Given the description of an element on the screen output the (x, y) to click on. 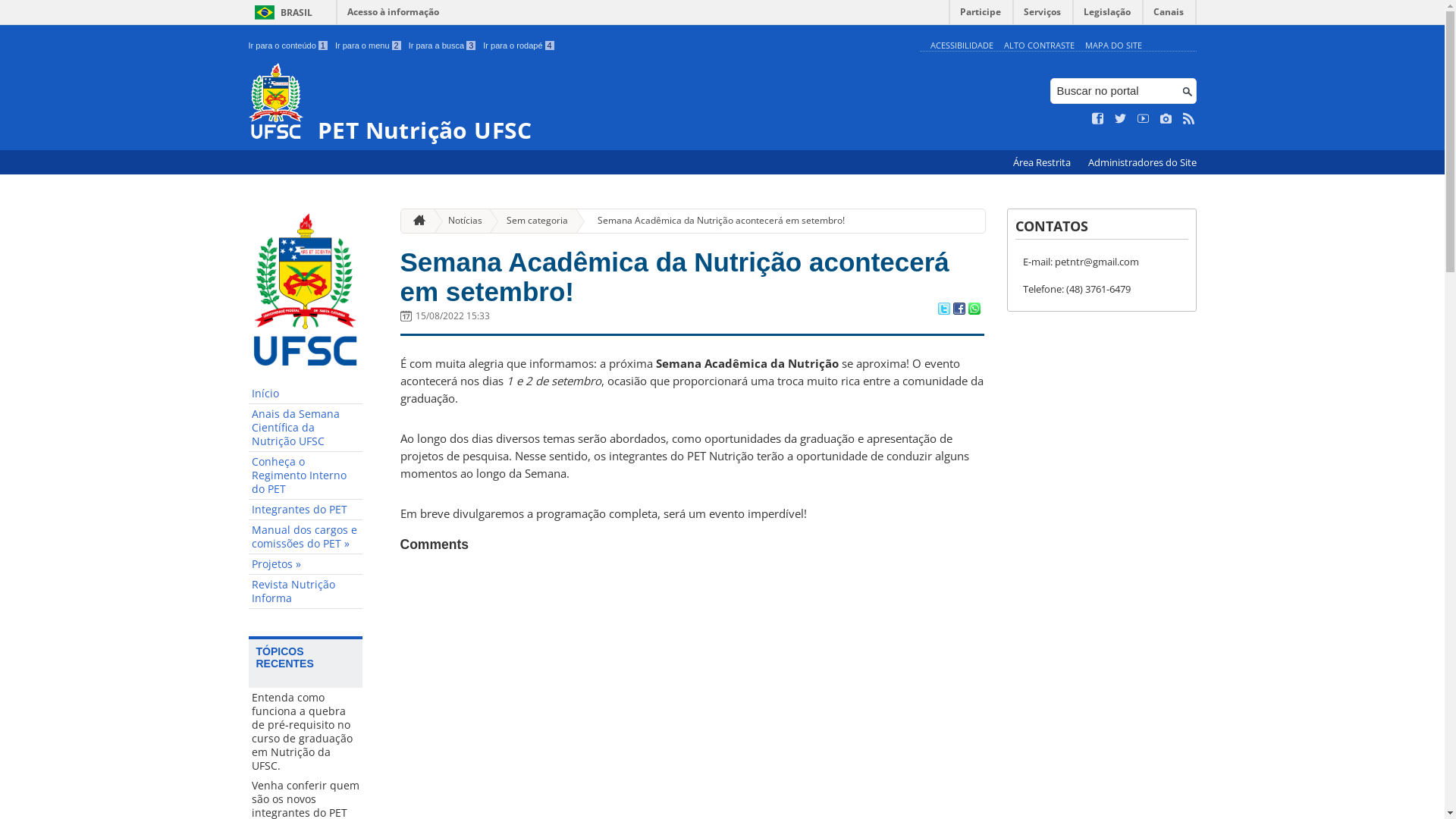
BRASIL Element type: text (280, 12)
Canais Element type: text (1169, 15)
Sem categoria Element type: text (531, 220)
Ir para o menu 2 Element type: text (368, 45)
Ir para a busca 3 Element type: text (442, 45)
Administradores do Site Element type: text (1141, 162)
ACESSIBILIDADE Element type: text (960, 44)
MAPA DO SITE Element type: text (1112, 44)
Integrantes do PET Element type: text (305, 509)
Siga no Twitter Element type: hover (1120, 118)
Participe Element type: text (980, 15)
Curta no Facebook Element type: hover (1098, 118)
Compartilhar no Facebook Element type: hover (958, 309)
ALTO CONTRASTE Element type: text (1039, 44)
Veja no Instagram Element type: hover (1166, 118)
Compartilhar no Twitter Element type: hover (943, 309)
Compartilhar no WhatsApp Element type: hover (973, 309)
